Given the description of an element on the screen output the (x, y) to click on. 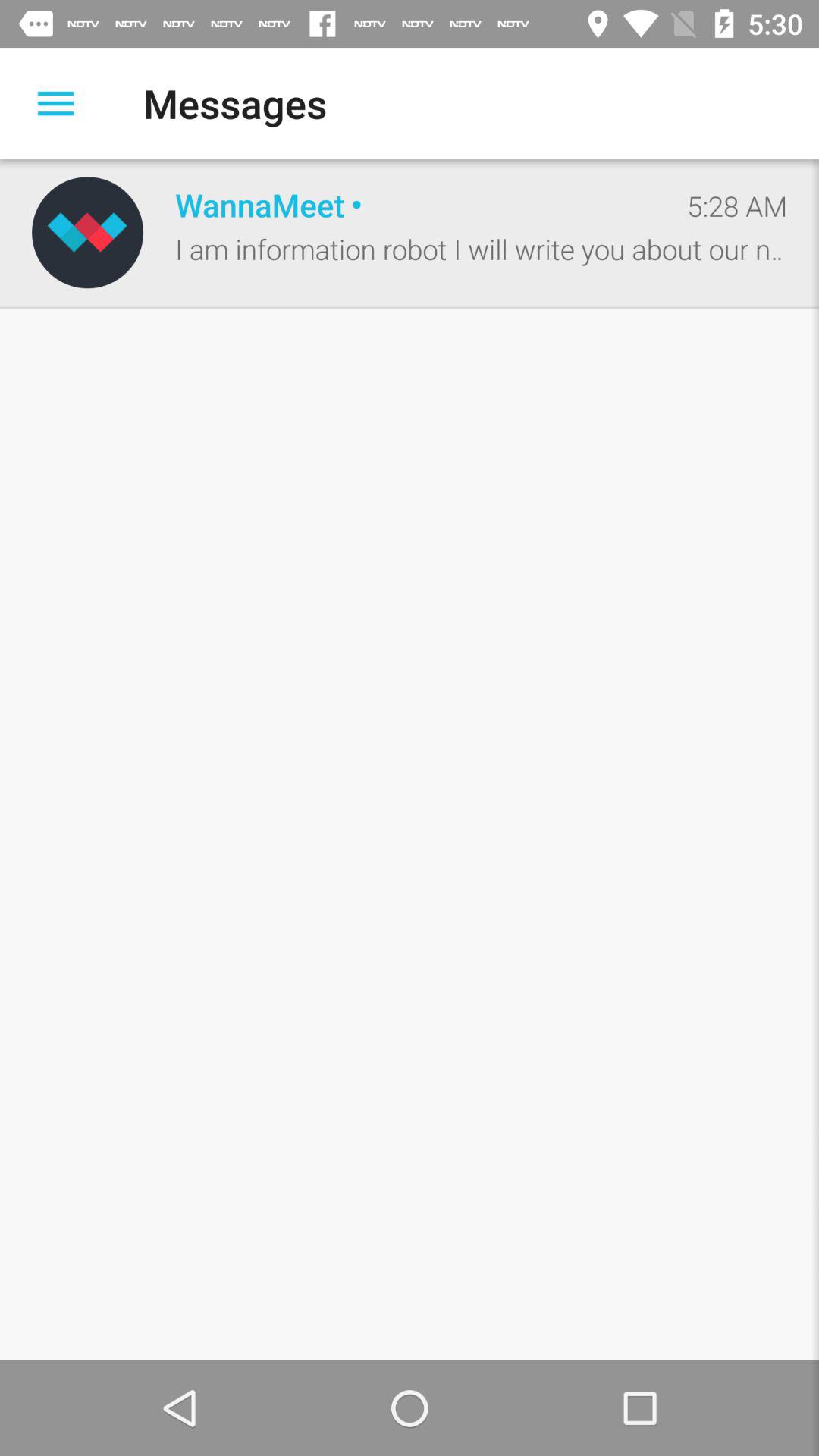
select i am information icon (481, 248)
